Given the description of an element on the screen output the (x, y) to click on. 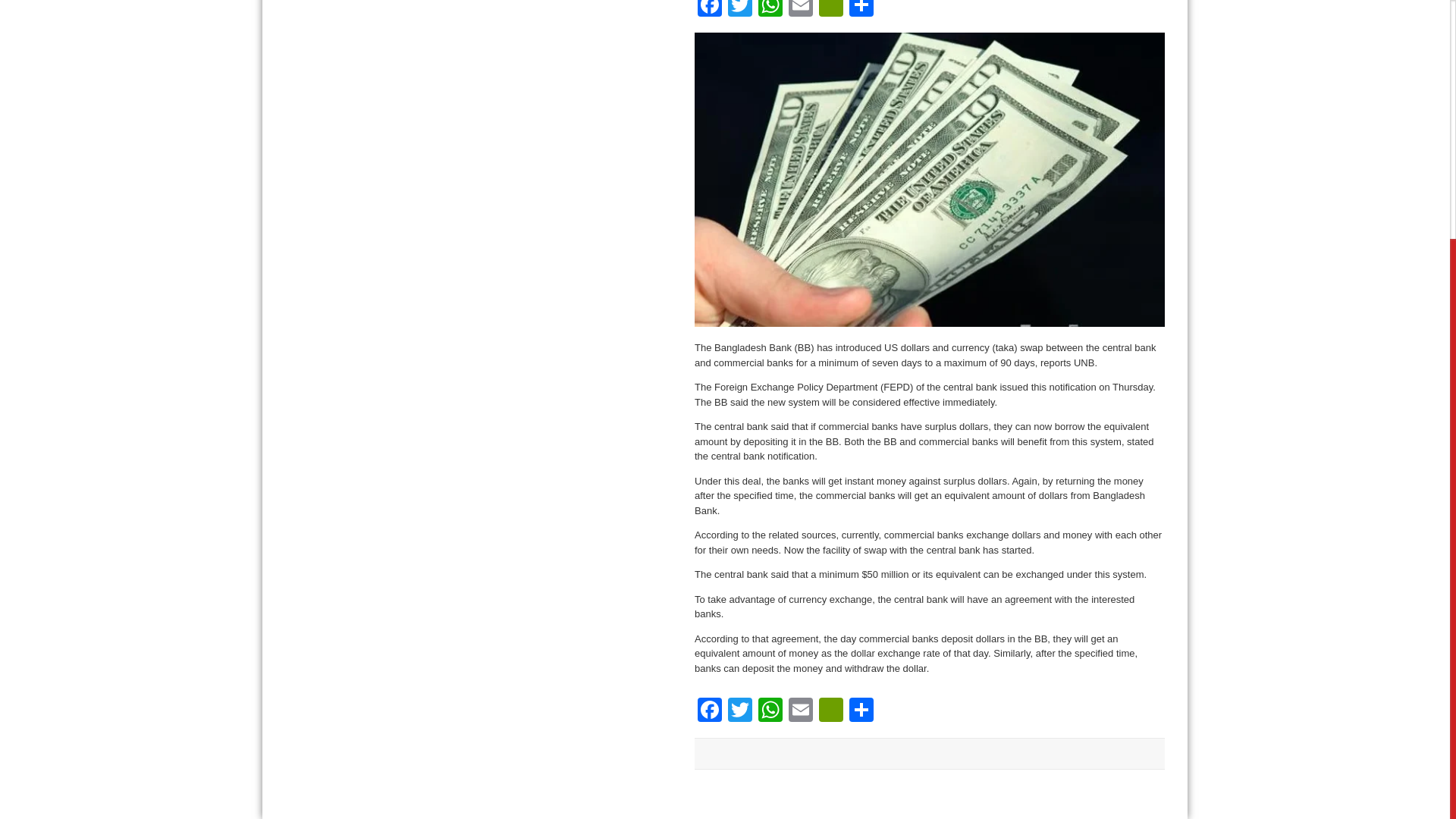
Twitter (740, 10)
Email (800, 711)
WhatsApp (770, 10)
WhatsApp (770, 711)
Email (800, 10)
Facebook (709, 711)
PrintFriendly (830, 711)
Facebook (709, 10)
Twitter (740, 711)
PrintFriendly (830, 10)
Email (800, 711)
WhatsApp (770, 711)
